Given the description of an element on the screen output the (x, y) to click on. 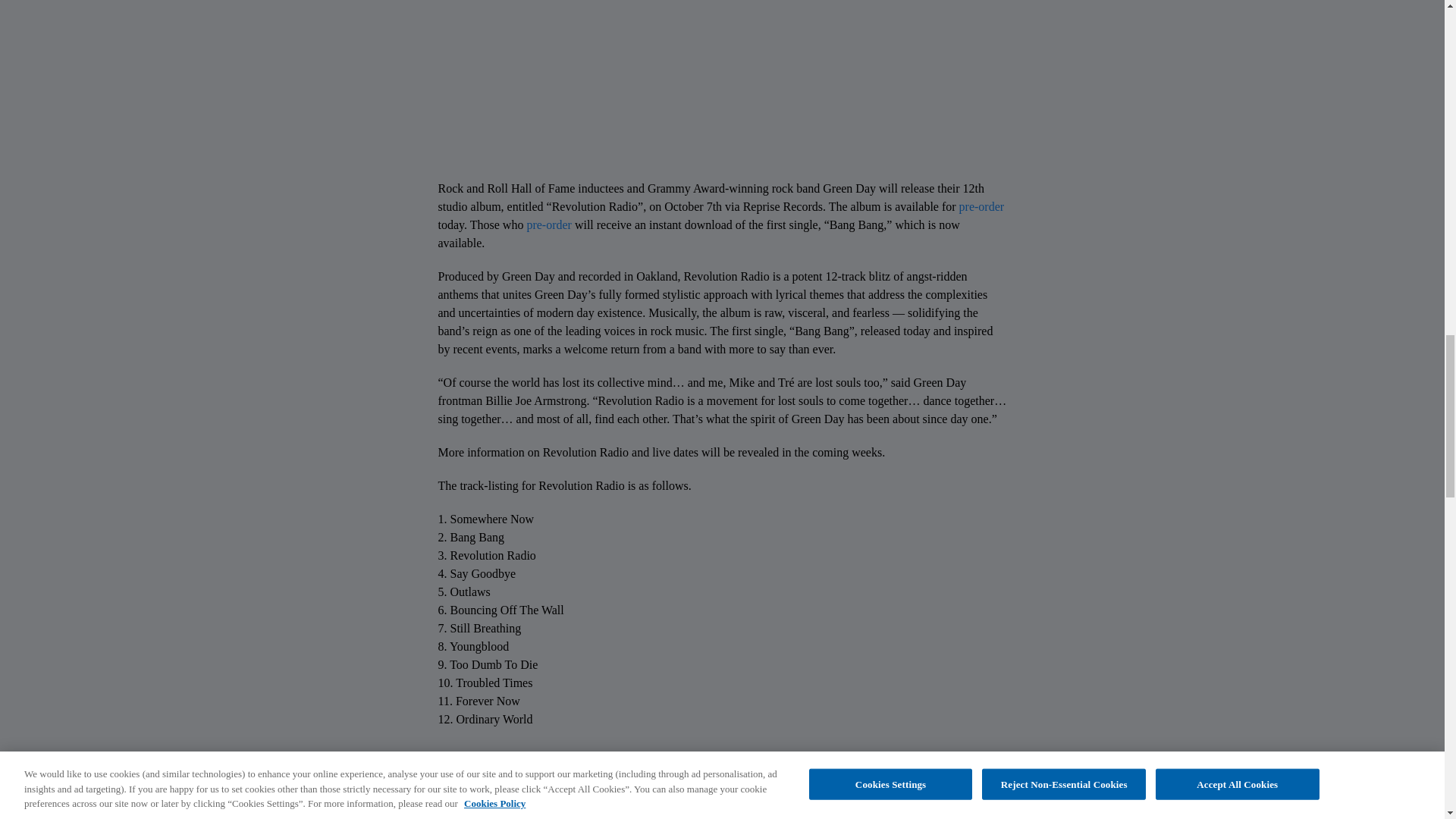
Previous (698, 794)
pre-order (981, 205)
pre-order (548, 224)
Next (755, 794)
